Given the description of an element on the screen output the (x, y) to click on. 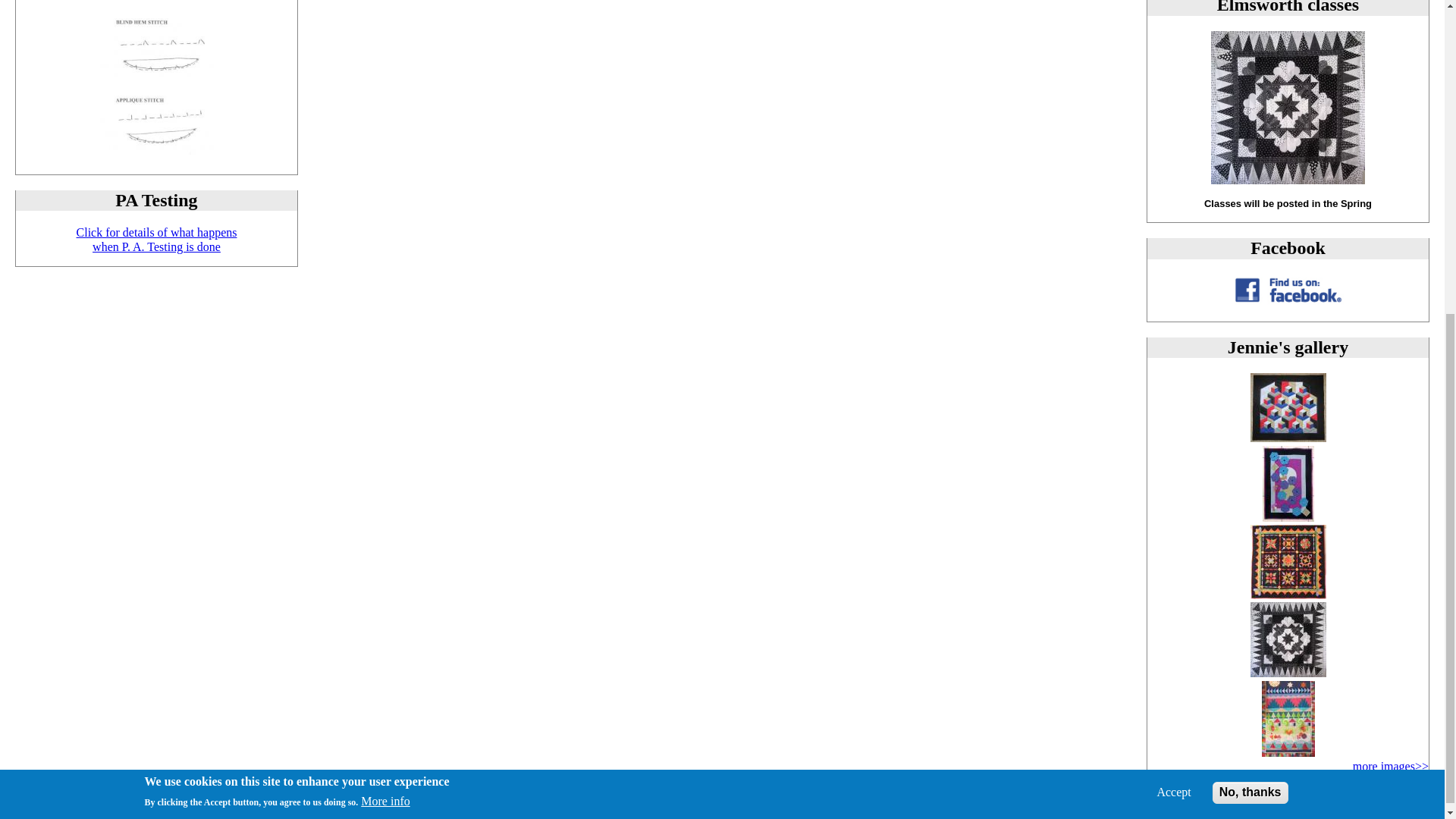
More info (385, 295)
Kaleidoscope black quilt (1286, 594)
3D Blocks (1286, 437)
Accept (1173, 285)
Black and white medallion quilt (157, 239)
BOM-2016 (1286, 672)
Multiple Hexagonal Happening! (1288, 752)
No, thanks (1287, 517)
